Given the description of an element on the screen output the (x, y) to click on. 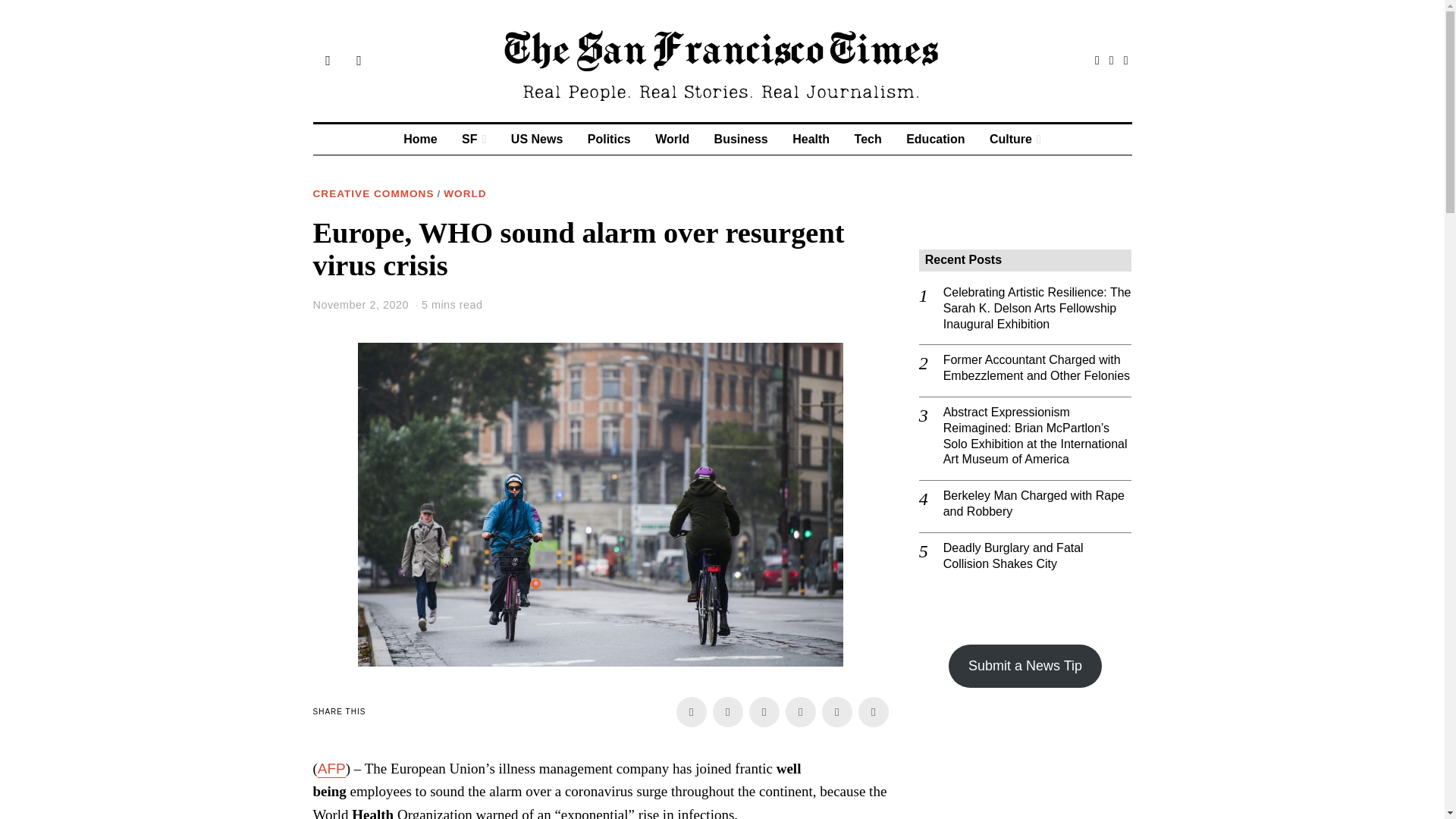
CREATIVE COMMONS (373, 194)
Politics (609, 139)
US News (536, 139)
SF (473, 139)
Tech (868, 139)
World (672, 139)
Home (419, 139)
Business (740, 139)
Education (935, 139)
Health (810, 139)
WORLD (465, 194)
Culture (1014, 139)
AFP (331, 768)
